Given the description of an element on the screen output the (x, y) to click on. 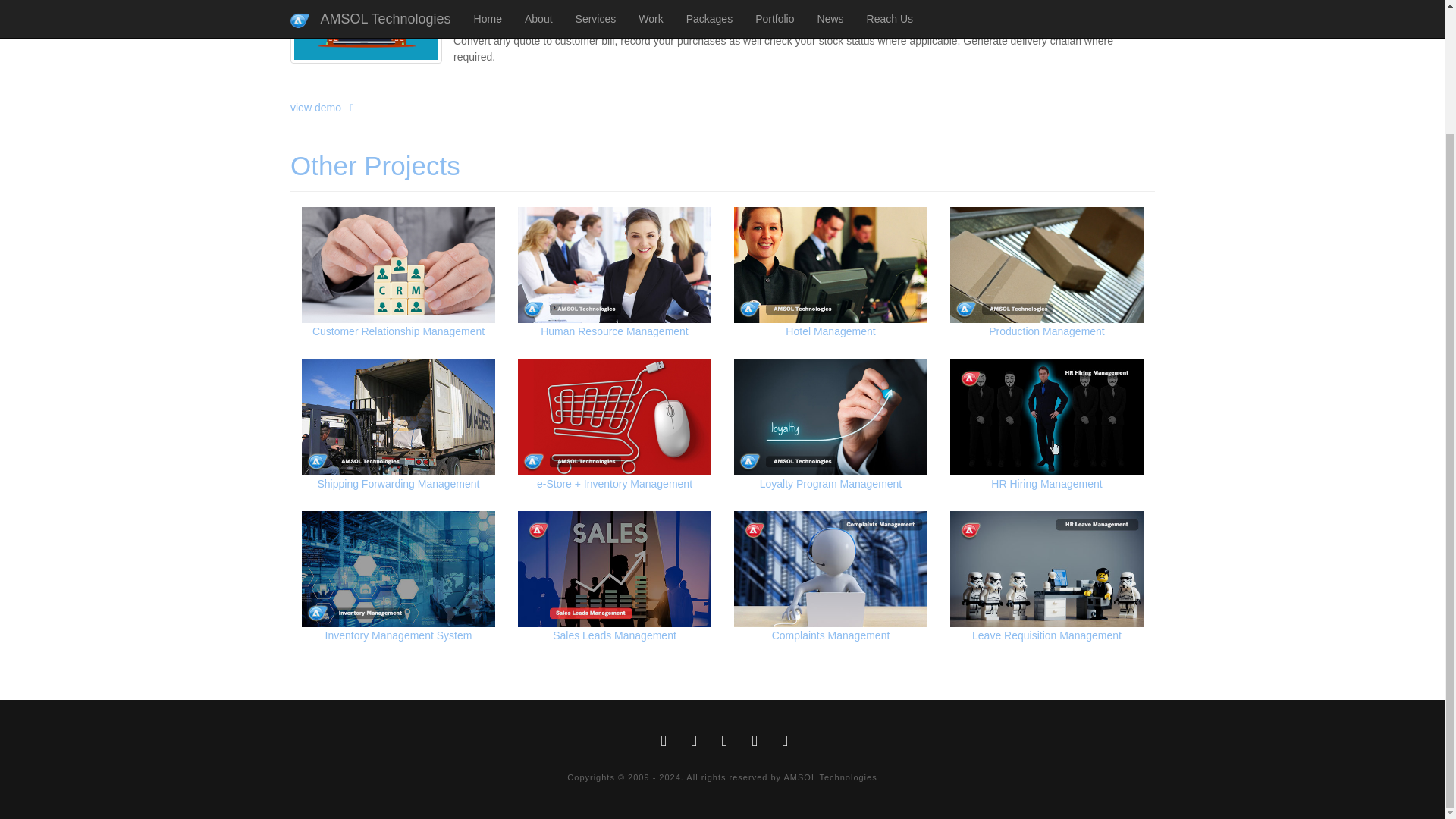
Loyalty Program Management (829, 435)
Inventory Management System (409, 581)
Customer Relationship Management (472, 311)
Facebook (663, 745)
Leave Requisition Management (1044, 584)
view demo   (410, 95)
Linked In (754, 745)
Hotel Management (829, 300)
Twitter (694, 745)
Click for Demo (321, 107)
HR Hiring Management (1038, 434)
Human Resource Management (639, 304)
Google Plus (724, 745)
Youtube (784, 745)
Production Management (1026, 297)
